Given the description of an element on the screen output the (x, y) to click on. 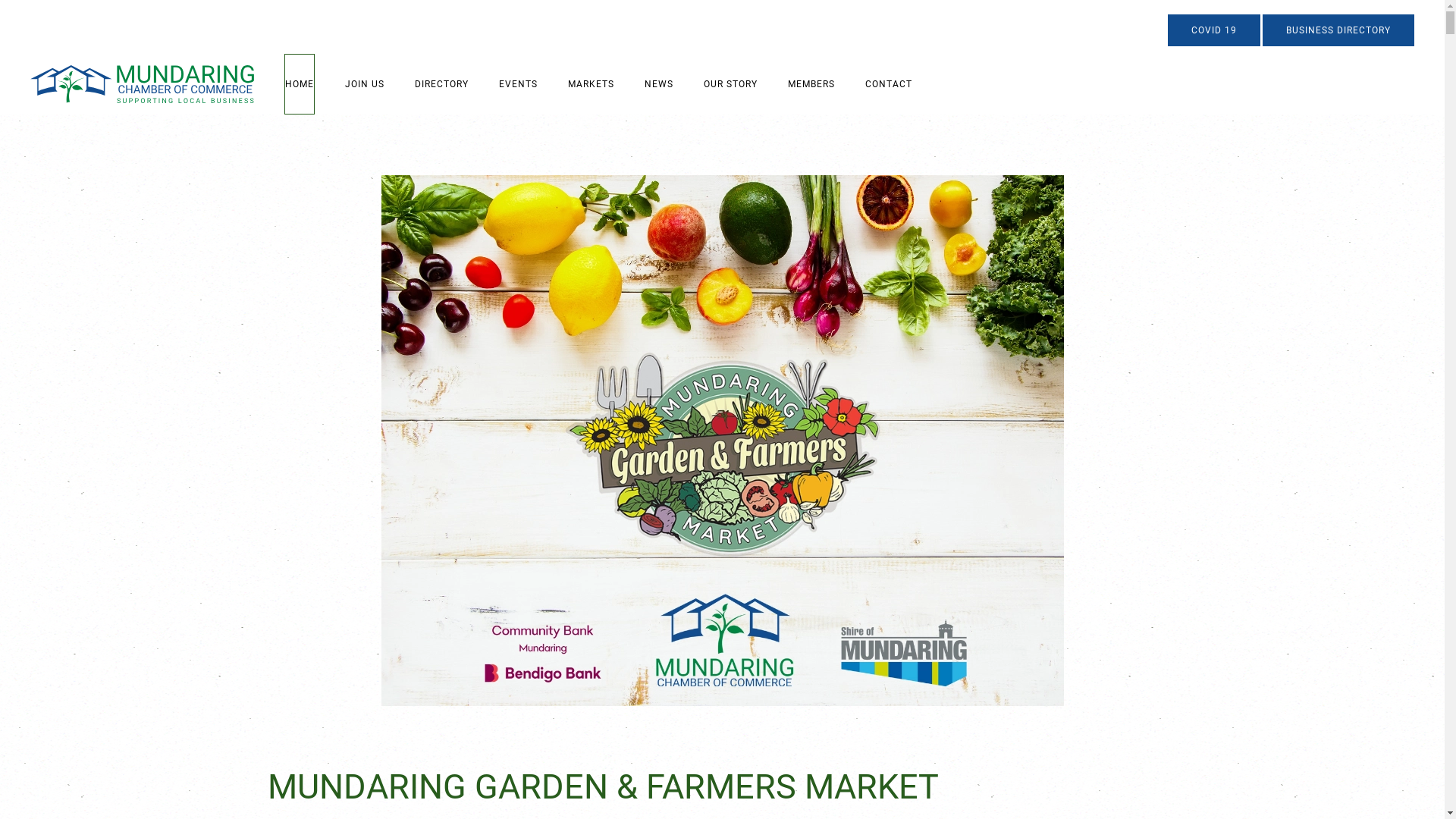
EVENTS Element type: text (517, 83)
MARKETS Element type: text (590, 83)
DIRECTORY Element type: text (441, 83)
OUR STORY Element type: text (730, 83)
BUSINESS DIRECTORY Element type: text (1338, 30)
HOME Element type: text (299, 83)
JOIN US Element type: text (364, 83)
CONTACT Element type: text (888, 83)
NEWS Element type: text (658, 83)
MEMBERS Element type: text (810, 83)
MUNDARING GARDEN & FARMERS MARKET Element type: text (602, 786)
COVID 19 Element type: text (1213, 30)
